Given the description of an element on the screen output the (x, y) to click on. 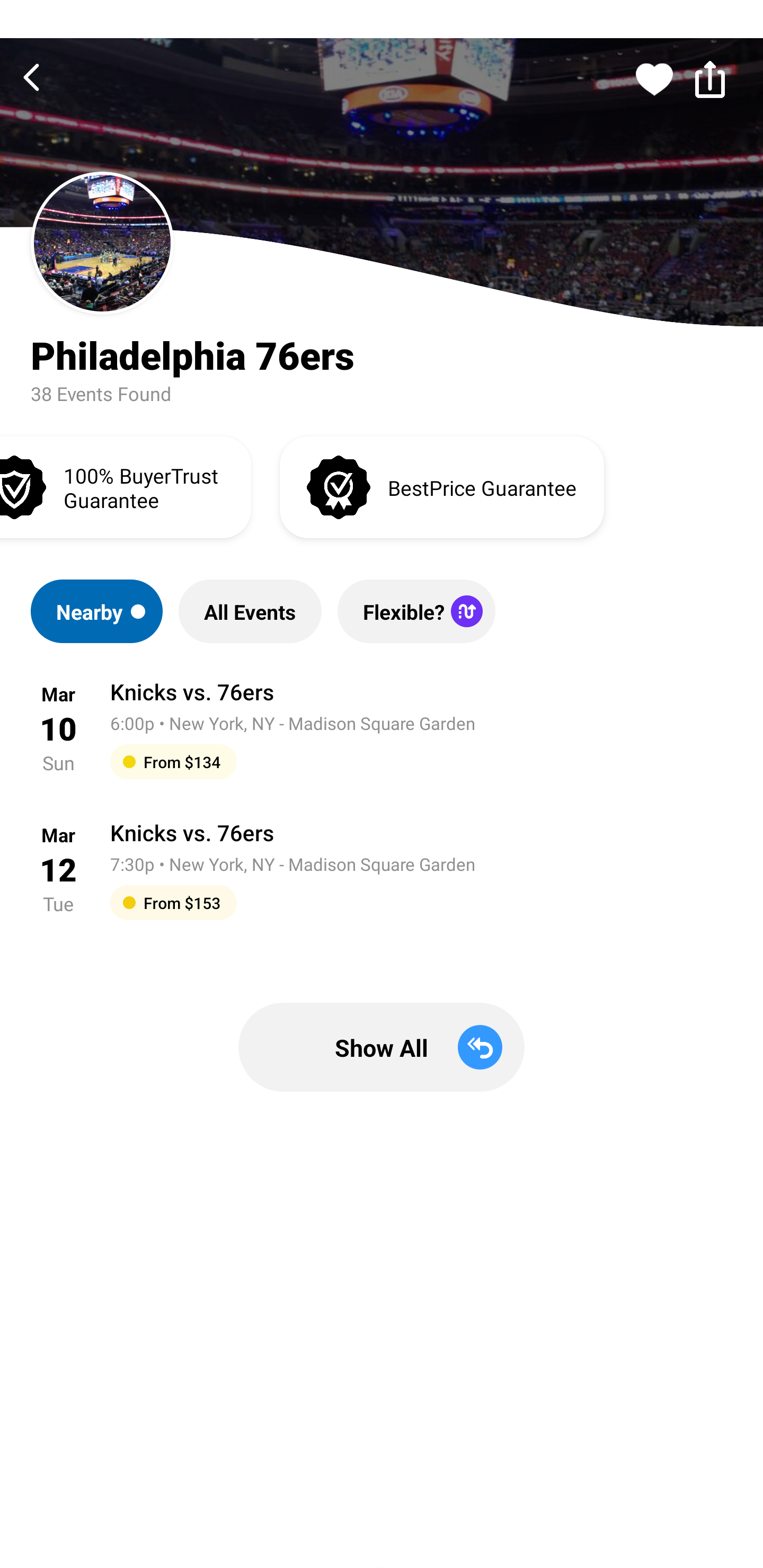
100% BuyerTrust Guarantee (125, 486)
BestPrice Guarantee (442, 486)
Nearby (96, 611)
All Events (249, 611)
Flexible? (416, 611)
Show All (381, 1047)
